Given the description of an element on the screen output the (x, y) to click on. 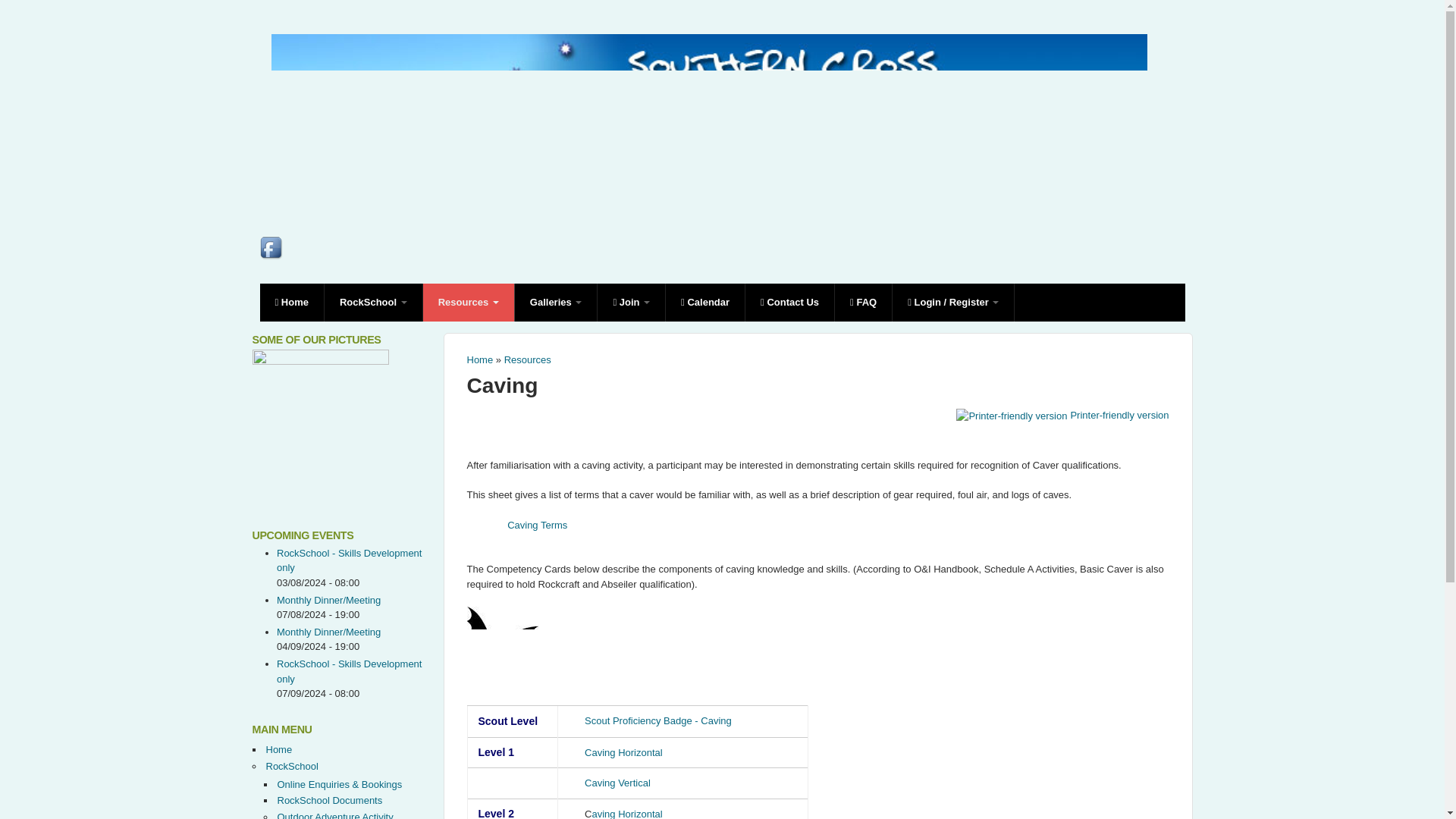
Calendar (705, 302)
Printer-friendly version (1062, 414)
Resources (469, 302)
Galleries (556, 302)
Join (630, 302)
Caving (502, 385)
Home (480, 359)
Resources (527, 359)
Home (291, 302)
